Given the description of an element on the screen output the (x, y) to click on. 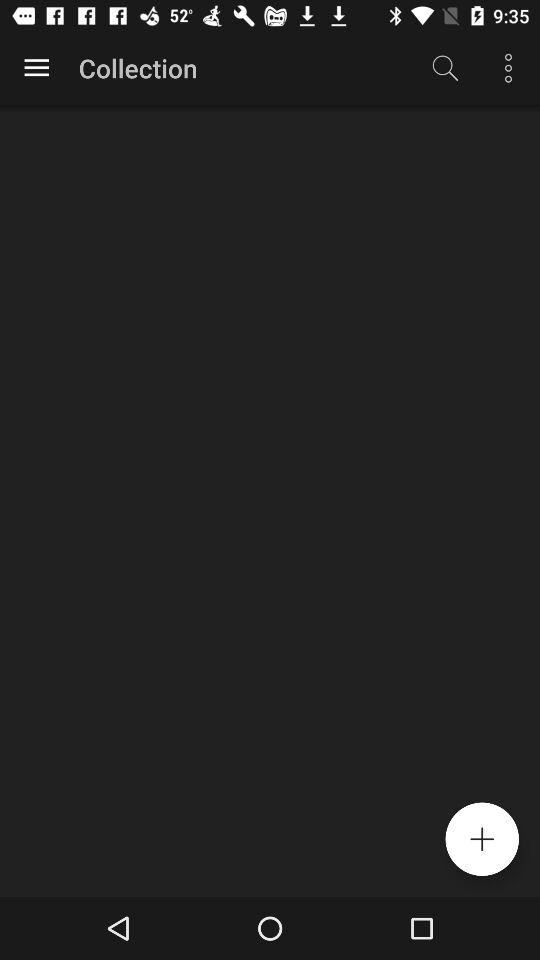
navigation menu (36, 68)
